Given the description of an element on the screen output the (x, y) to click on. 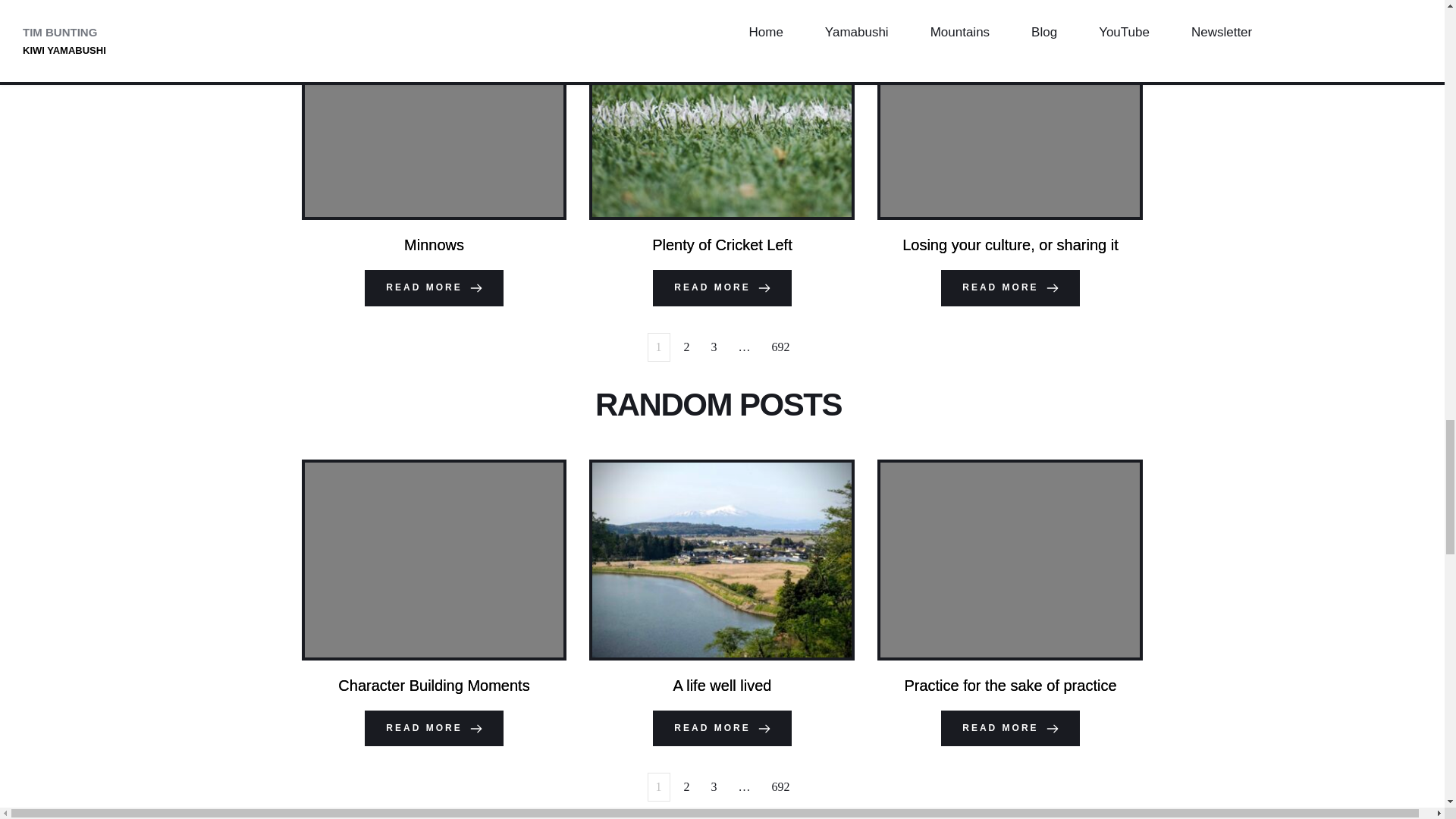
READ MORE (433, 728)
692 (780, 347)
READ MORE (1009, 288)
READ MORE (721, 288)
READ MORE (1009, 728)
READ MORE (721, 728)
READ MORE (433, 288)
